Given the description of an element on the screen output the (x, y) to click on. 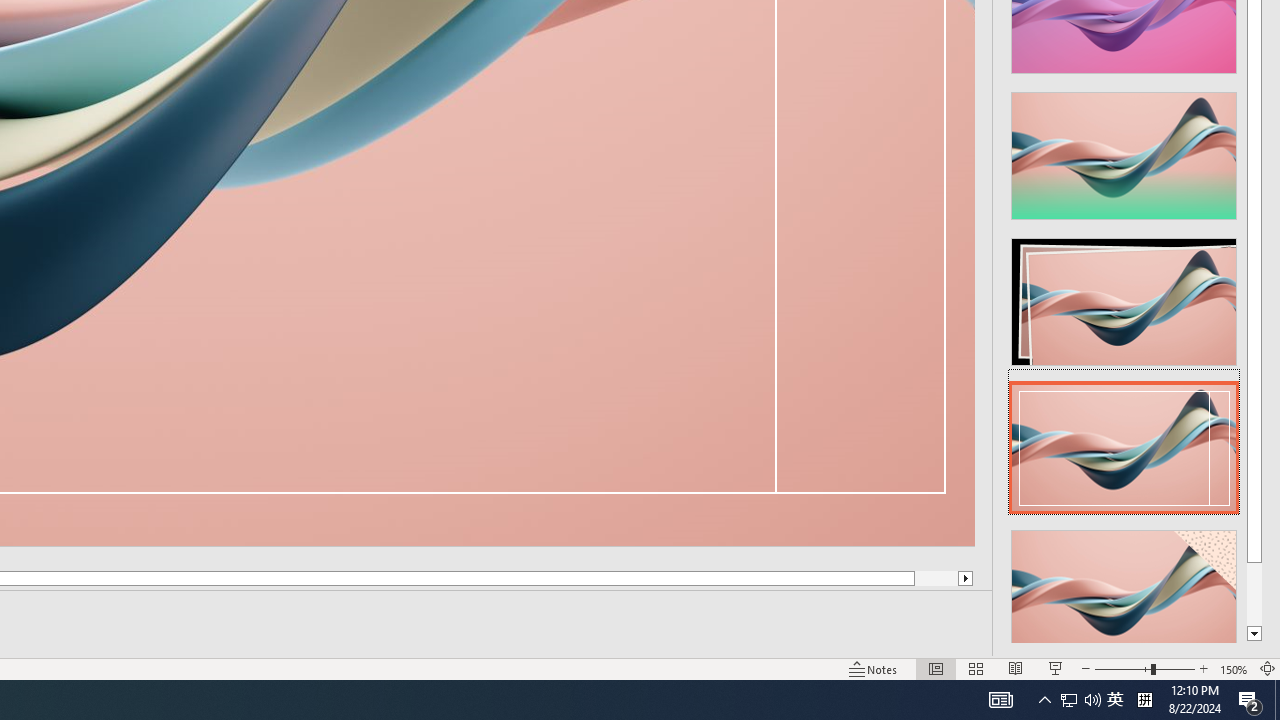
Zoom 150% (1234, 668)
